Given the description of an element on the screen output the (x, y) to click on. 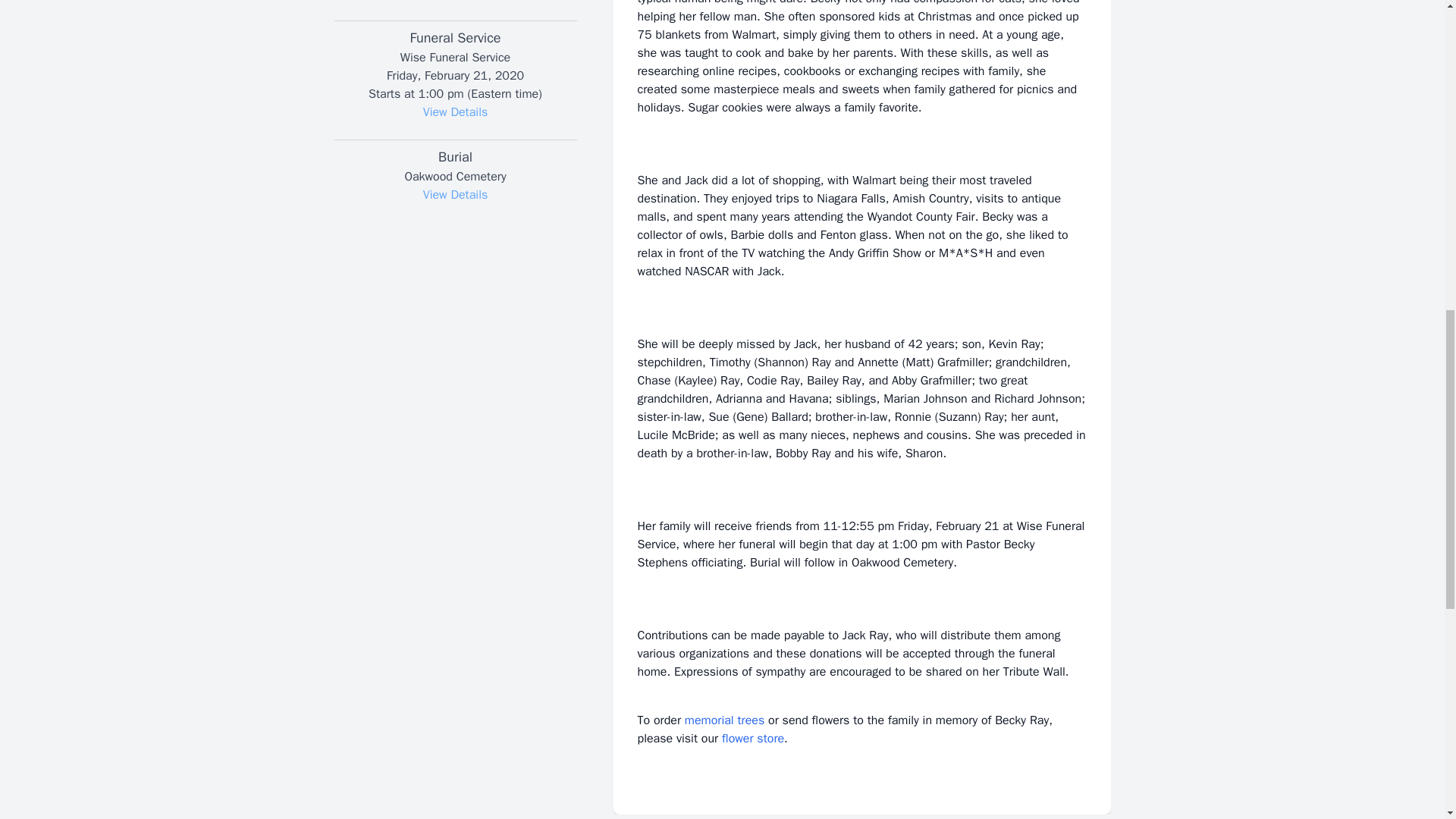
View Details (455, 111)
flower store (753, 738)
memorial trees (724, 720)
View Details (455, 193)
